Given the description of an element on the screen output the (x, y) to click on. 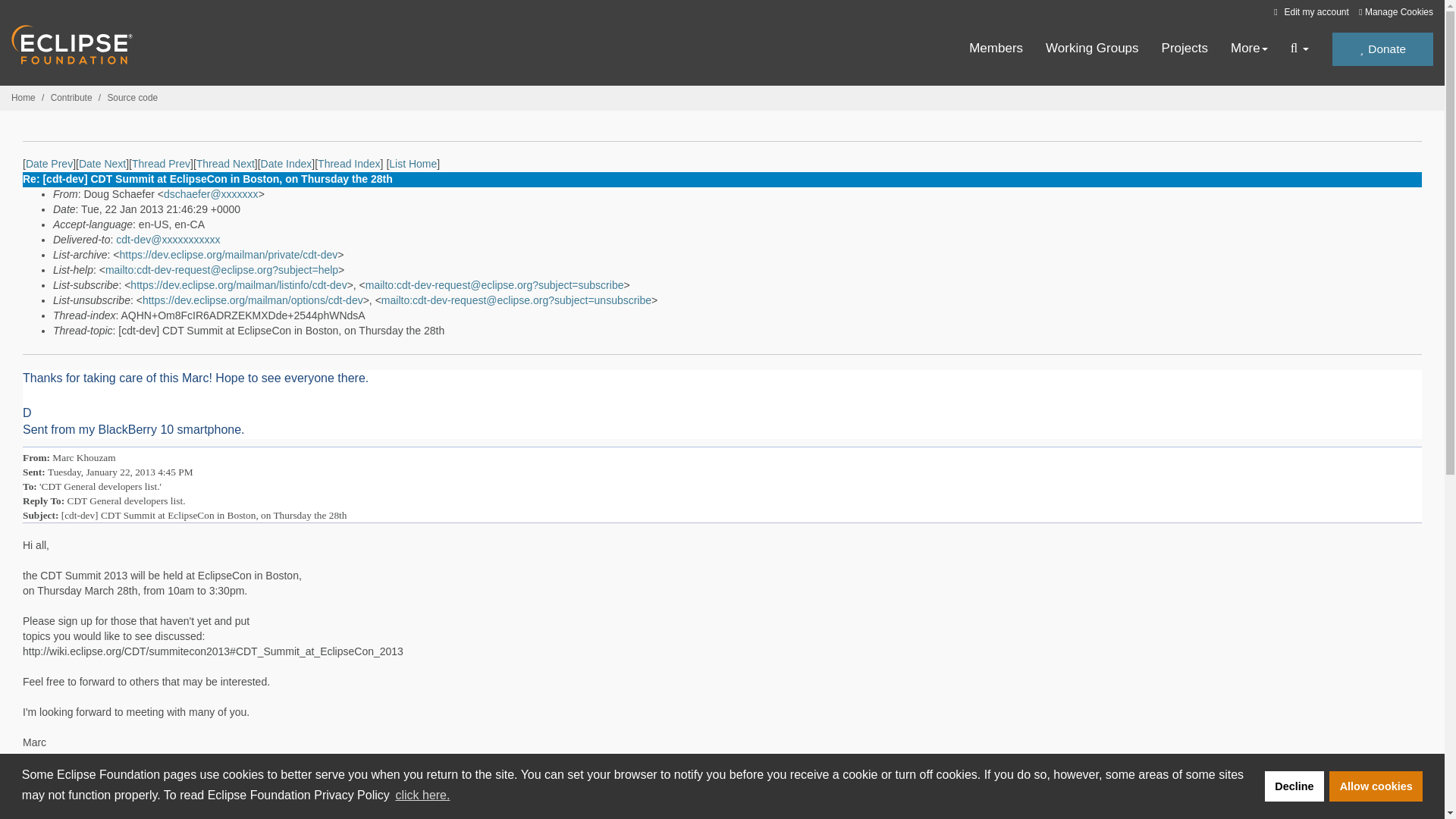
Projects (1184, 48)
Decline (1294, 786)
More (1249, 48)
Allow cookies (1375, 786)
Donate (1382, 49)
Members (996, 48)
click here. (422, 794)
Working Groups (1091, 48)
Manage Cookies (1395, 12)
Edit my account (1309, 11)
